Given the description of an element on the screen output the (x, y) to click on. 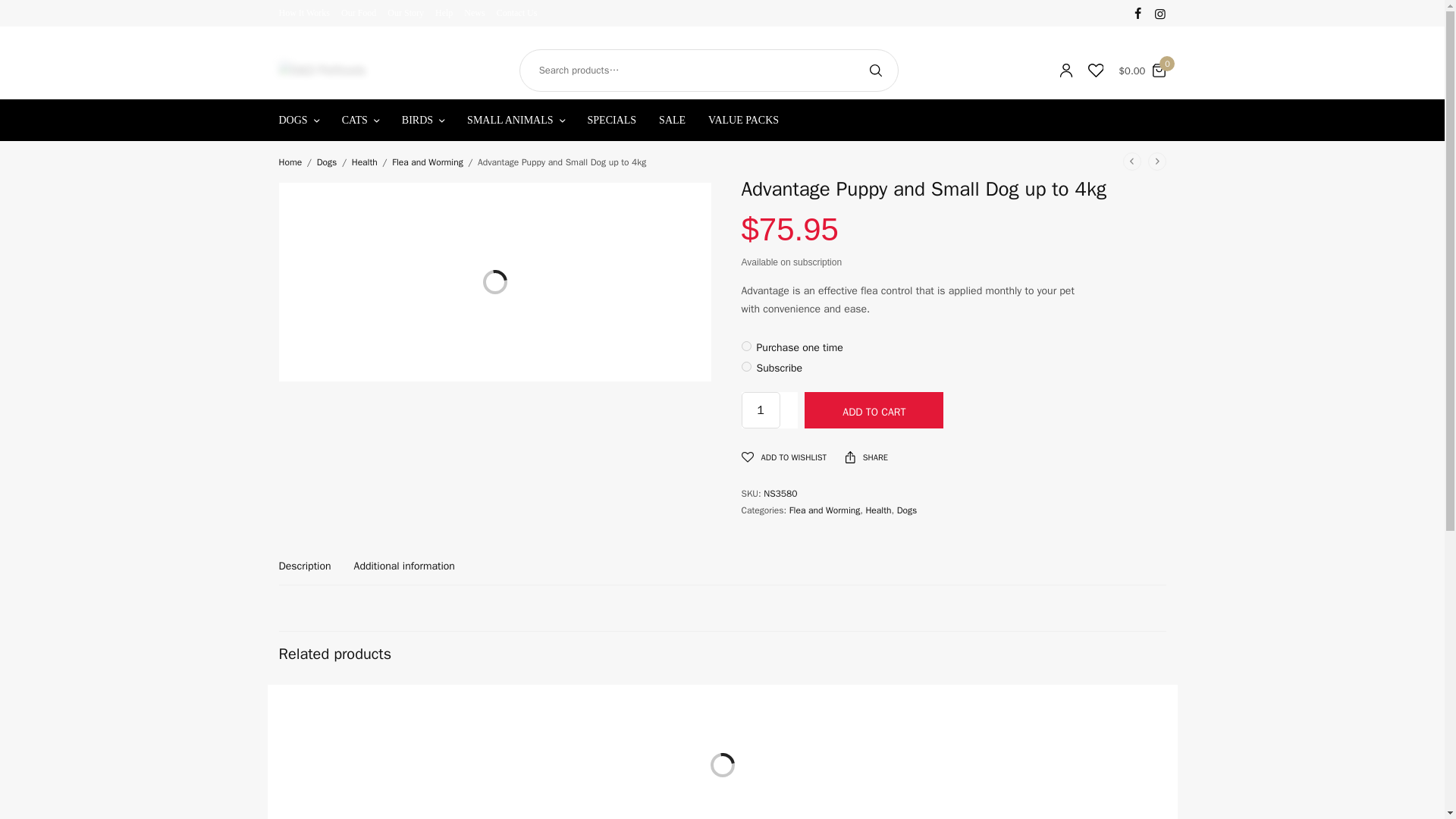
Pressed Bones (558, 730)
Roo Jerky (318, 730)
Pressed Bones (608, 696)
no (746, 346)
DOGS (298, 120)
Our Food (357, 12)
Roo Jerky (380, 696)
Contact Us (516, 12)
yes (746, 366)
Roo Tail (769, 730)
